Given the description of an element on the screen output the (x, y) to click on. 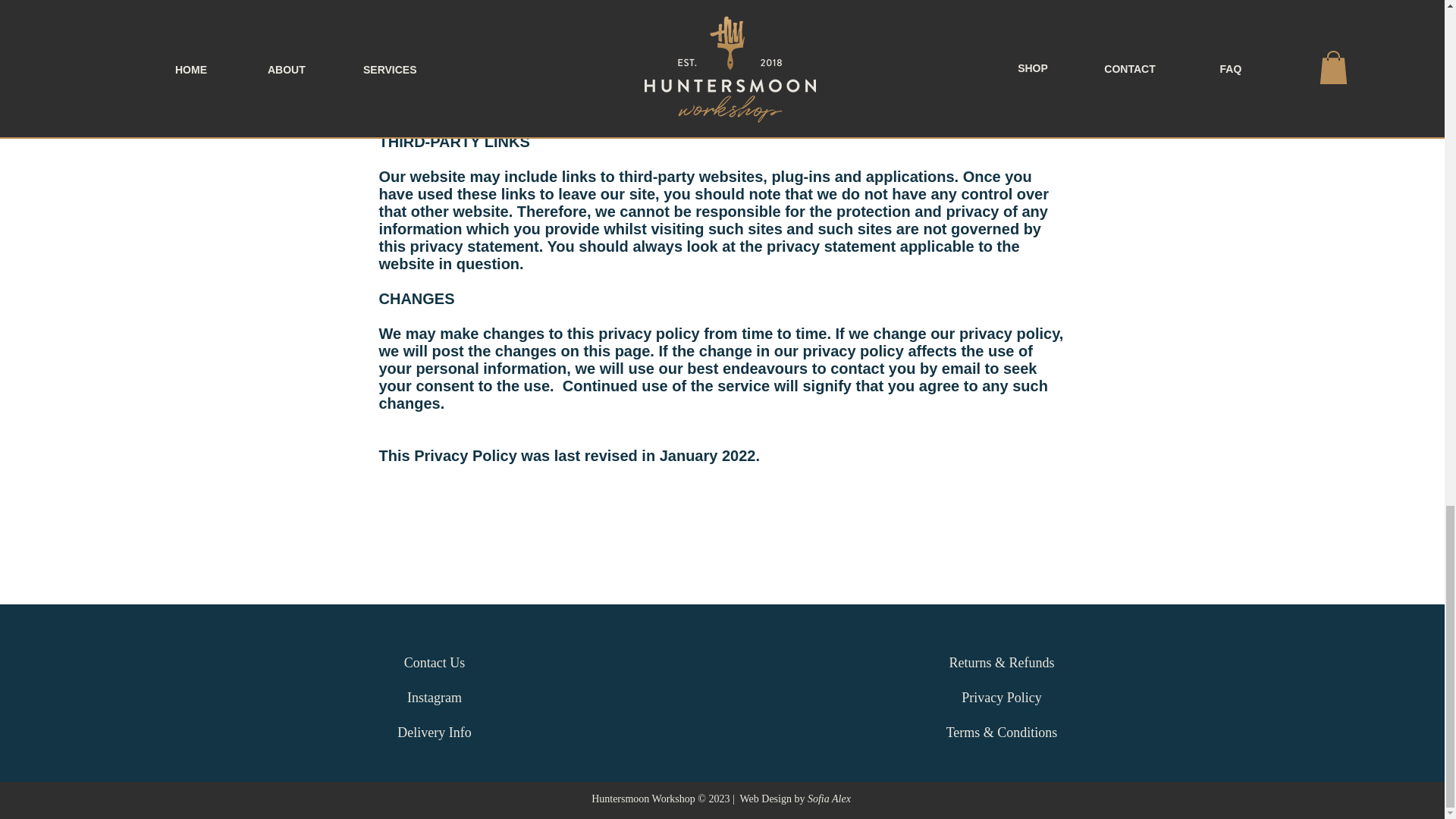
Sofia Alex (829, 798)
Privacy Policy (1000, 697)
Delivery Info (434, 732)
Instagram (434, 697)
Contact Us (434, 662)
